Given the description of an element on the screen output the (x, y) to click on. 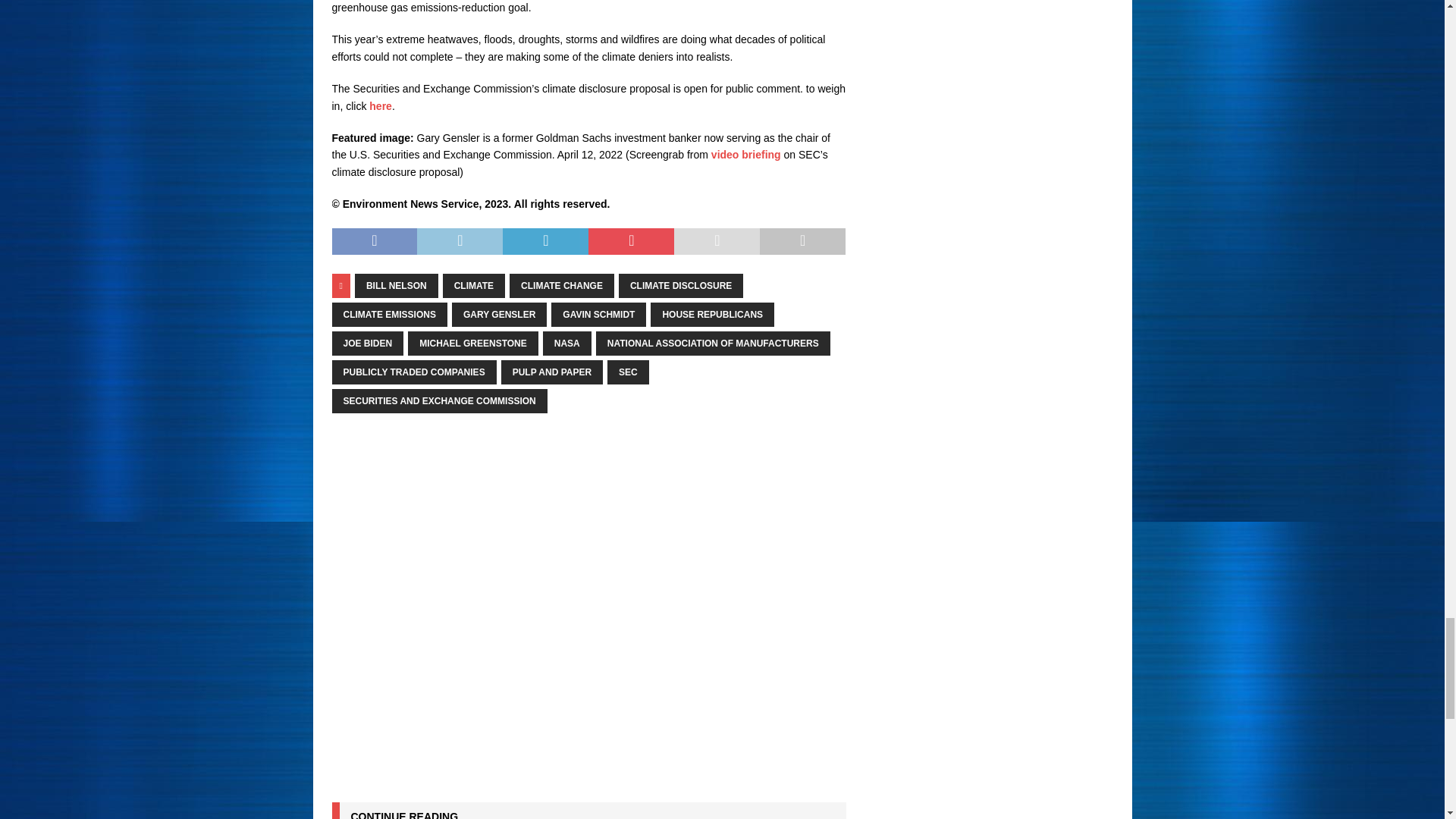
here (380, 105)
video briefing (745, 154)
